Given the description of an element on the screen output the (x, y) to click on. 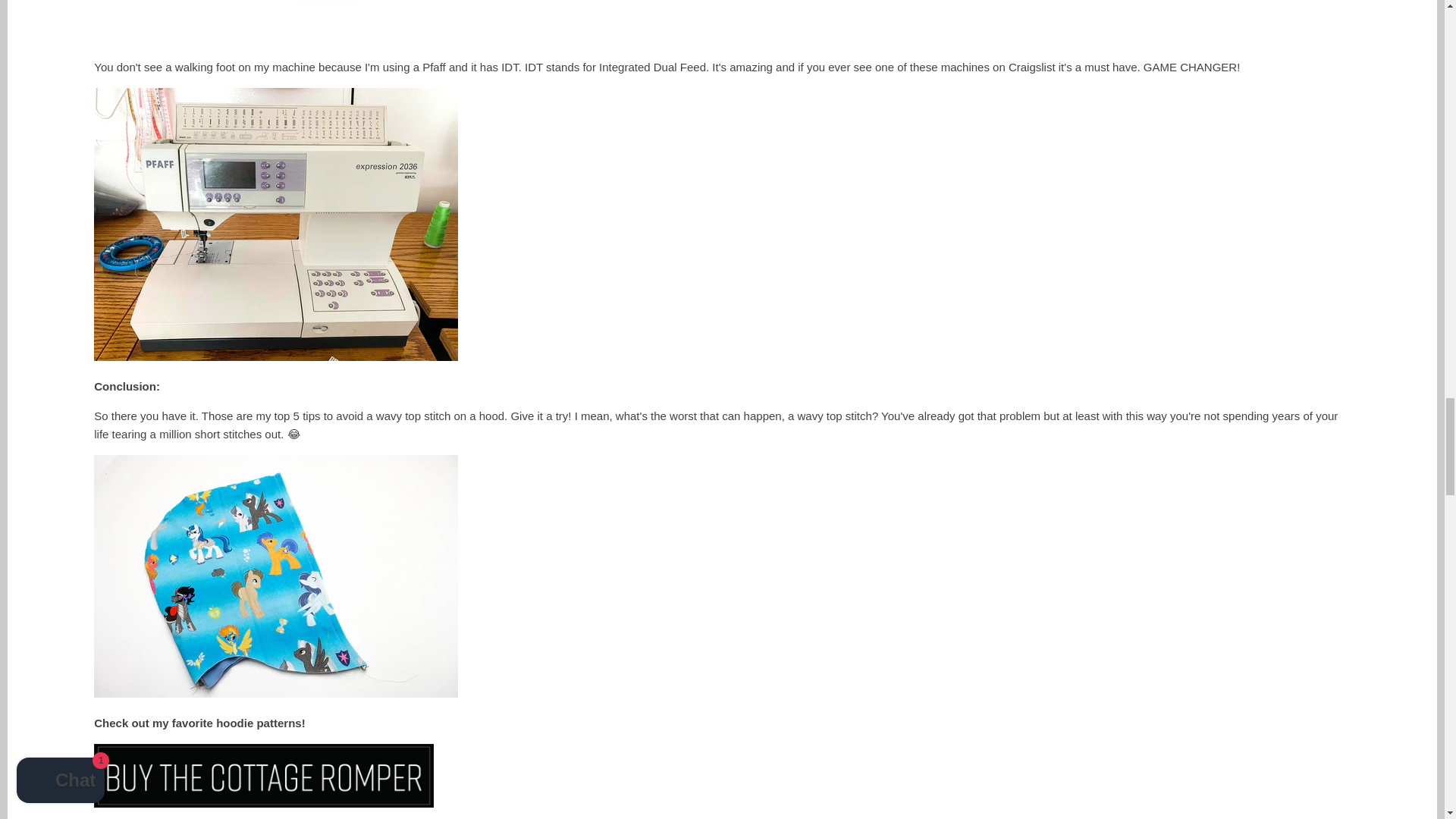
cottage romper (263, 802)
